Given the description of an element on the screen output the (x, y) to click on. 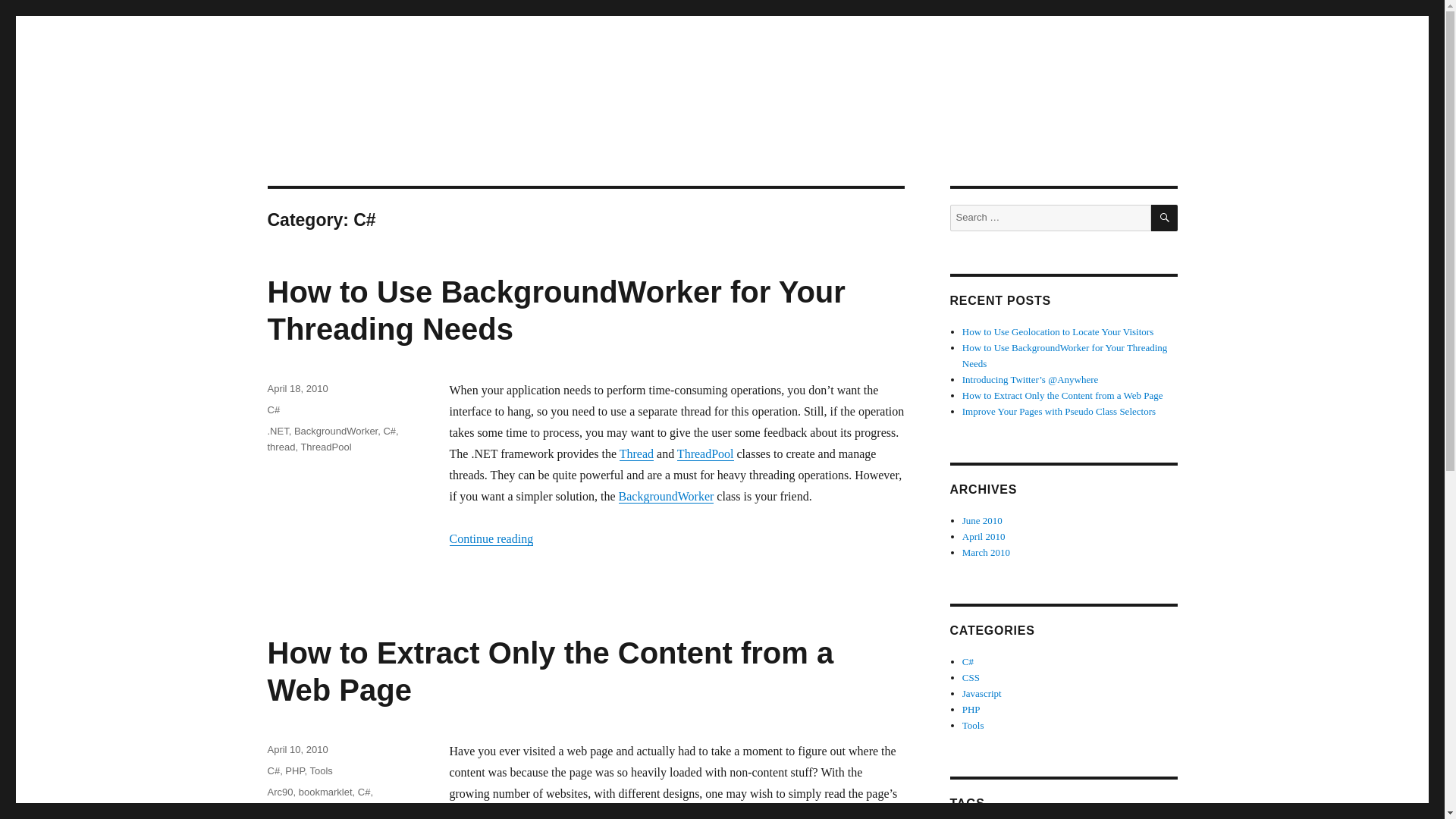
BackgroundWorker (335, 430)
April 10, 2010 (296, 749)
PHP (359, 808)
How to Use BackgroundWorker for Your Threading Needs (555, 310)
bookmarklet (325, 791)
print (383, 808)
How to Extract Only the Content from a Web Page (549, 671)
BackgroundWorker (666, 495)
April 18, 2010 (296, 388)
olussier.net (325, 114)
Evernote (323, 808)
thread (280, 446)
Readability (326, 818)
.NET (277, 430)
